Given the description of an element on the screen output the (x, y) to click on. 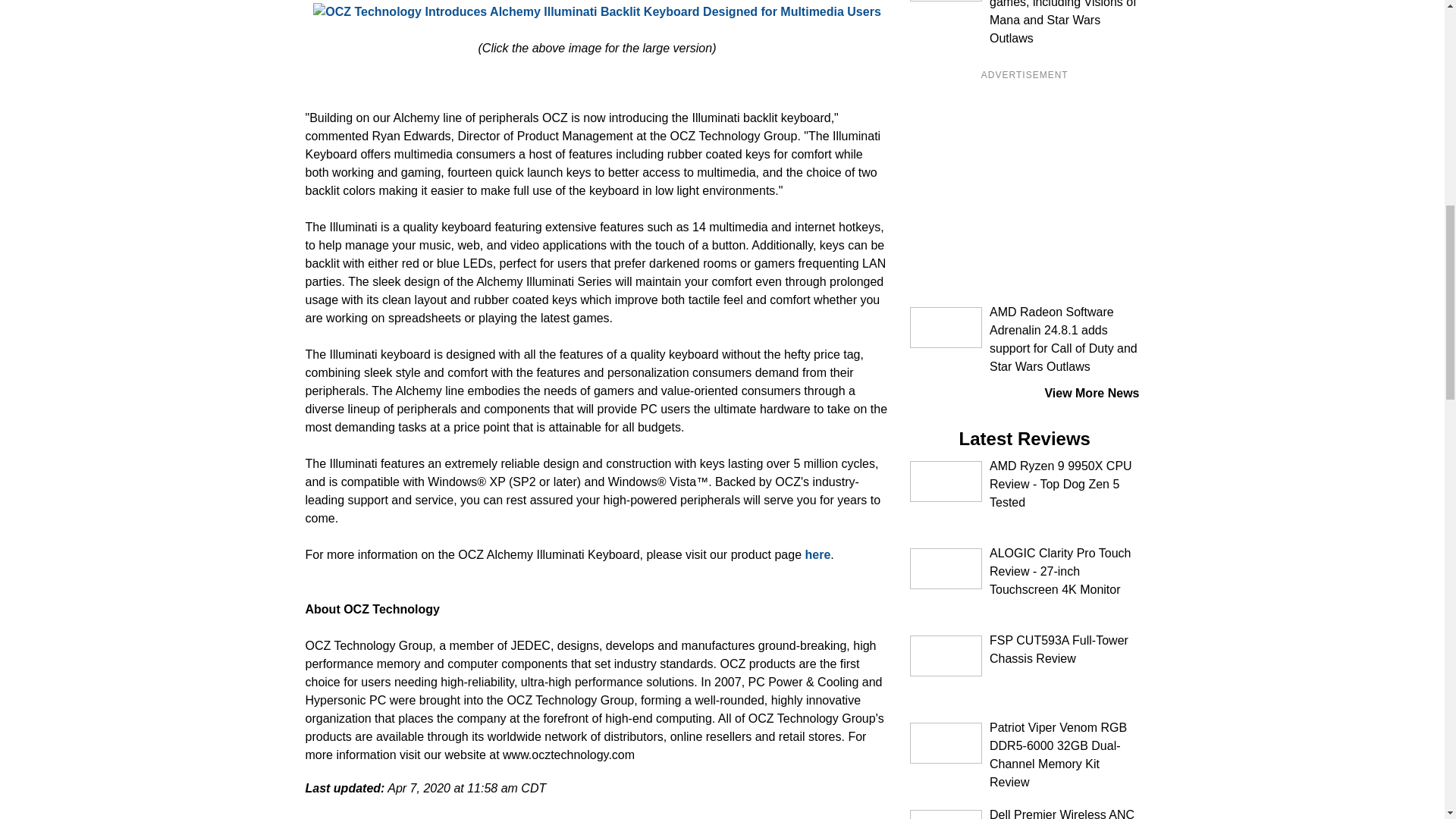
AMD Ryzen 9 9950X CPU Review - Top Dog Zen 5 Tested (950, 481)
